Given the description of an element on the screen output the (x, y) to click on. 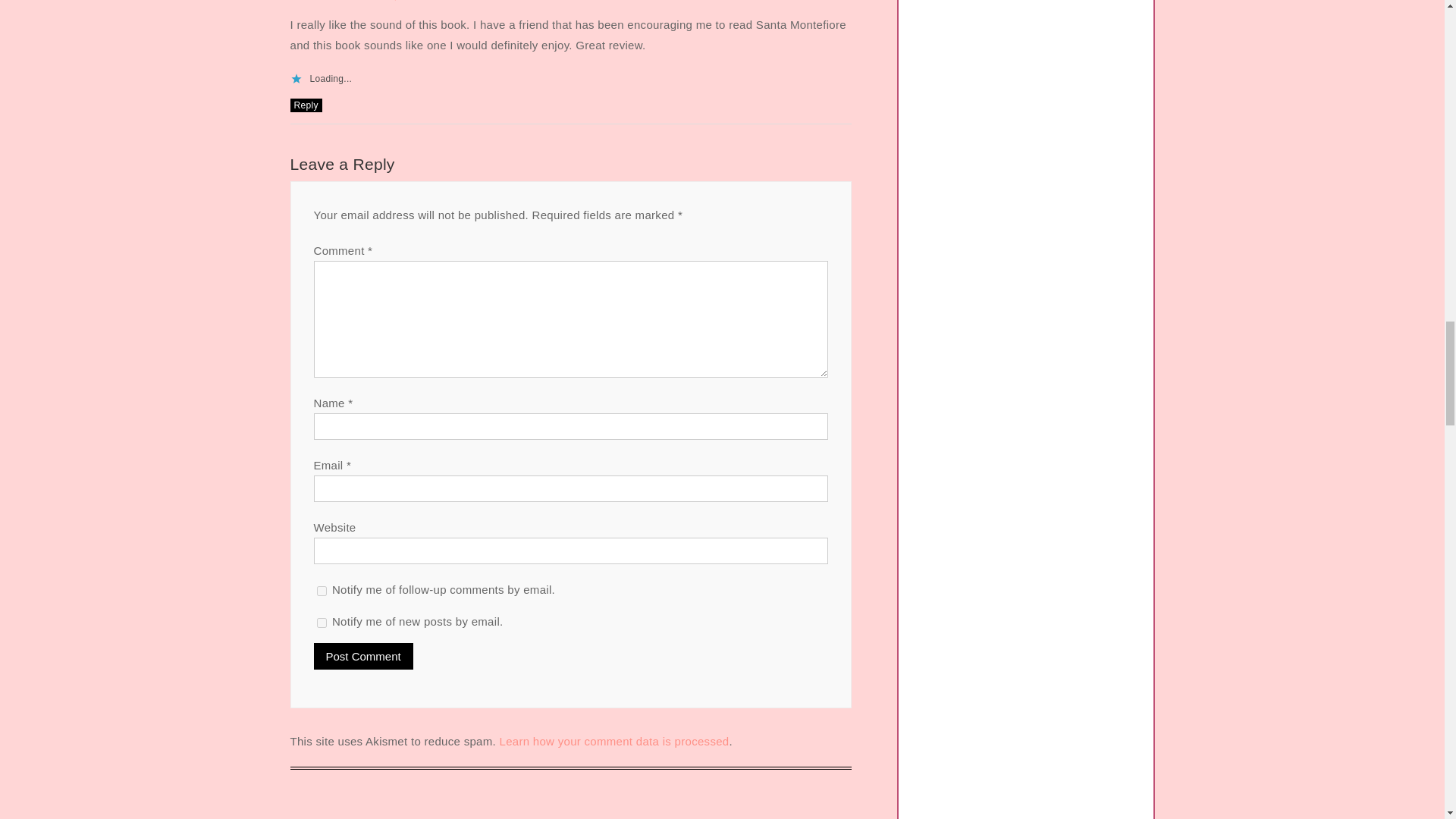
subscribe (321, 623)
subscribe (321, 591)
Post Comment (363, 655)
